Given the description of an element on the screen output the (x, y) to click on. 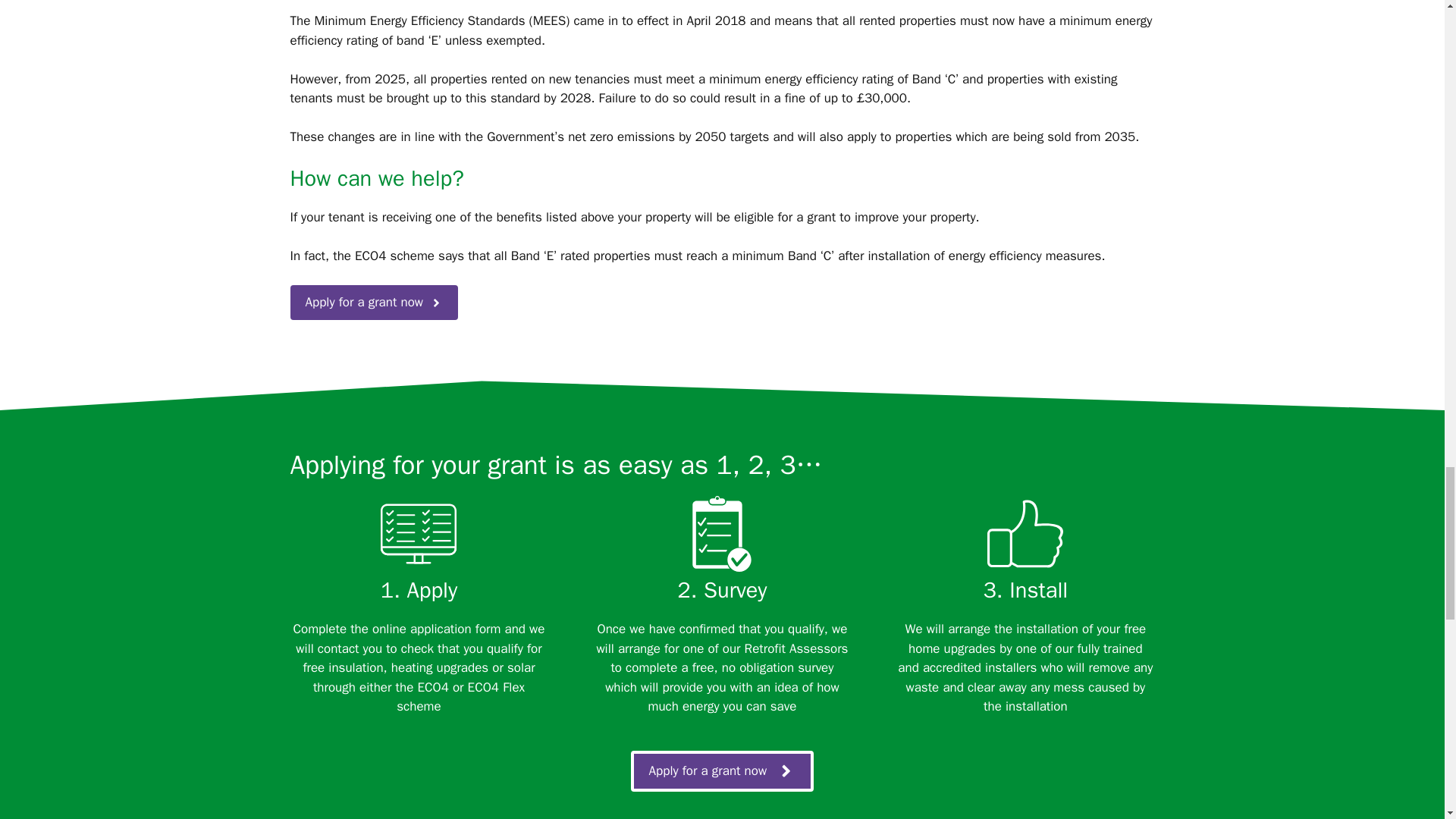
Apply for a grant now (721, 771)
